Given the description of an element on the screen output the (x, y) to click on. 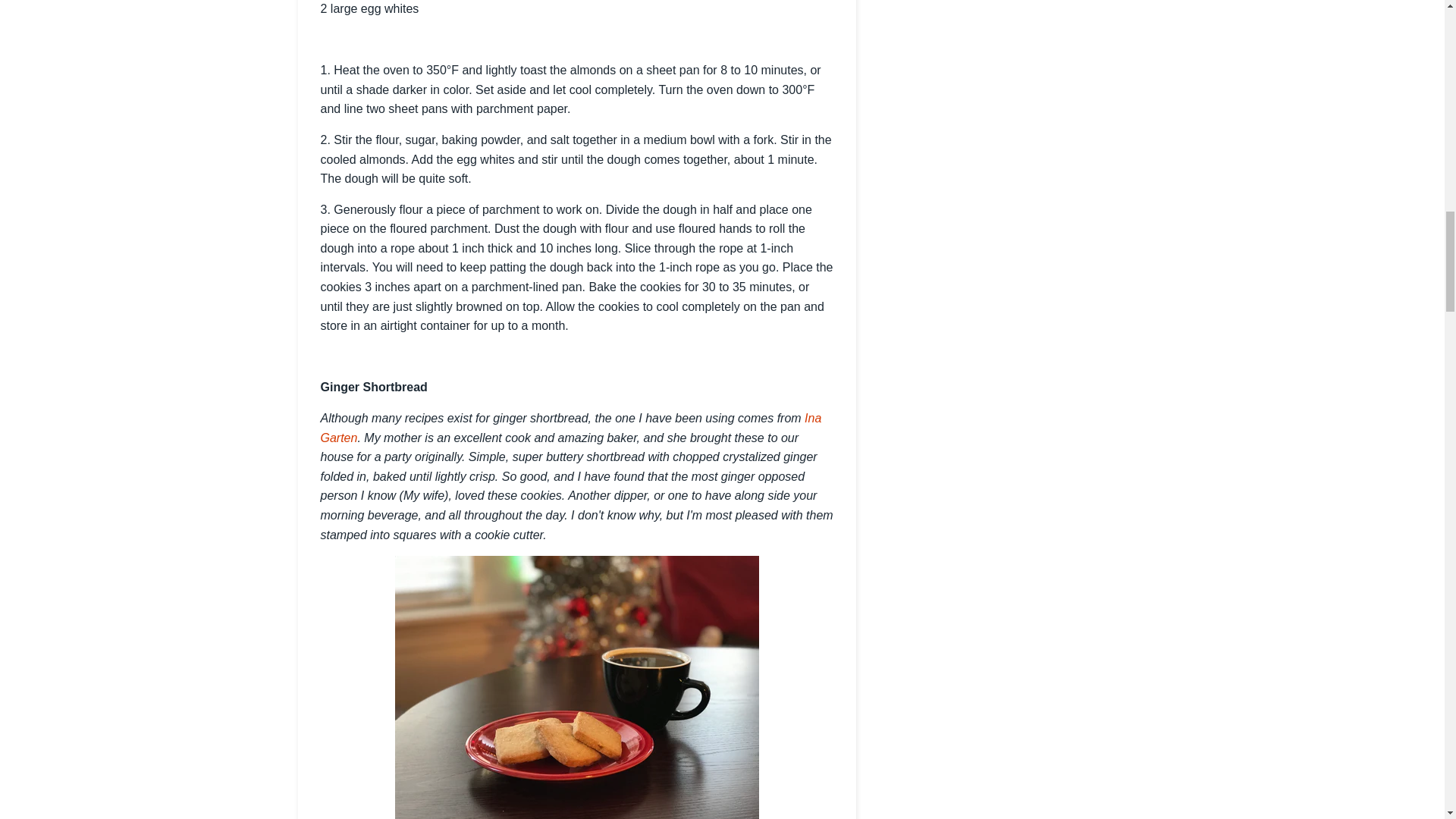
Ina Garten (570, 427)
